Given the description of an element on the screen output the (x, y) to click on. 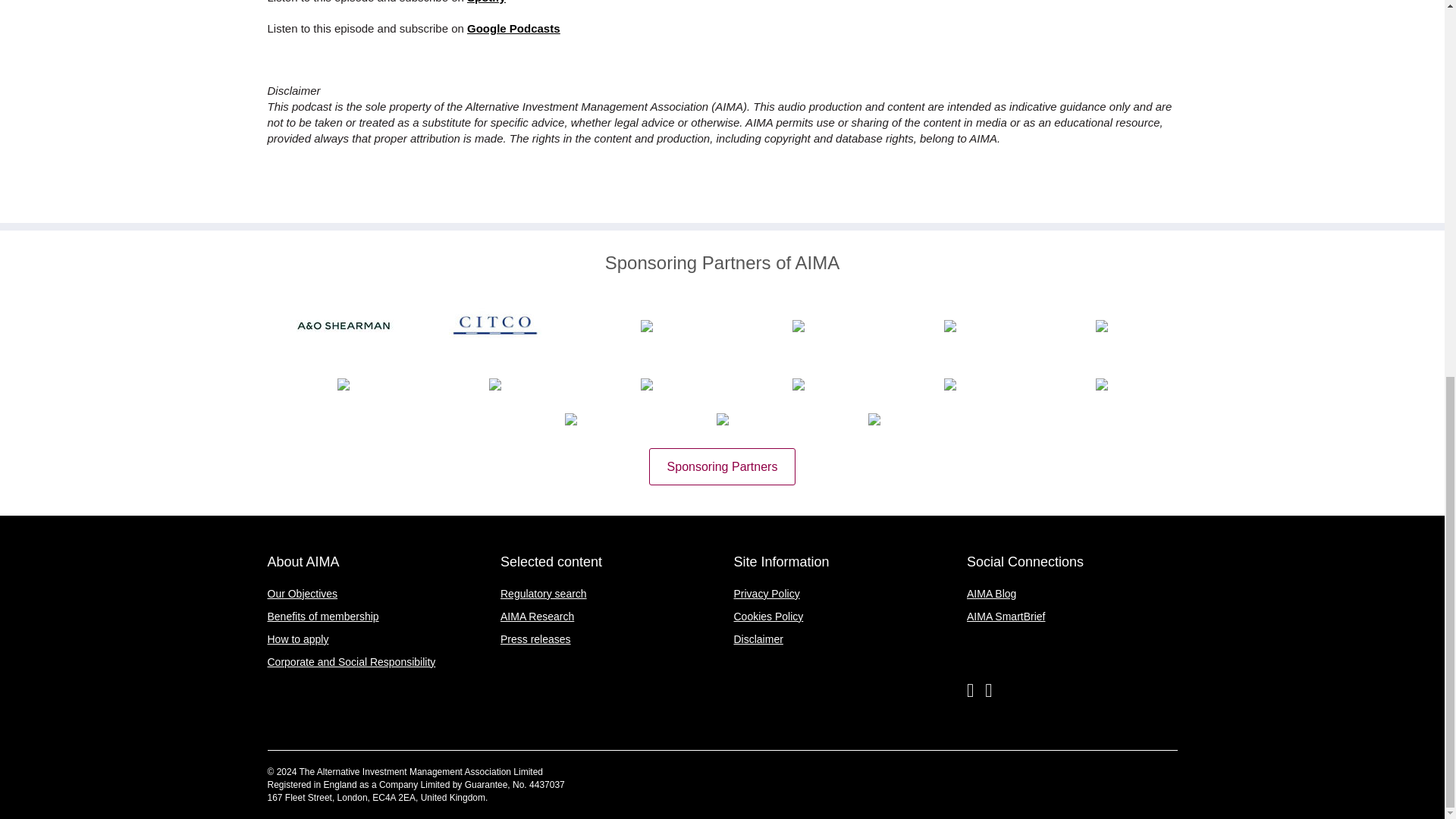
AIMA SmartBrief (1005, 616)
Corporate and Social Responsibility (350, 662)
AIMA Blog (991, 593)
How to apply (297, 639)
Press releases (535, 639)
Regulatory search (543, 593)
Benefits of membership (322, 616)
Privacy Policy (766, 593)
AIMA Research (536, 616)
Disclaimer (758, 639)
